Given the description of an element on the screen output the (x, y) to click on. 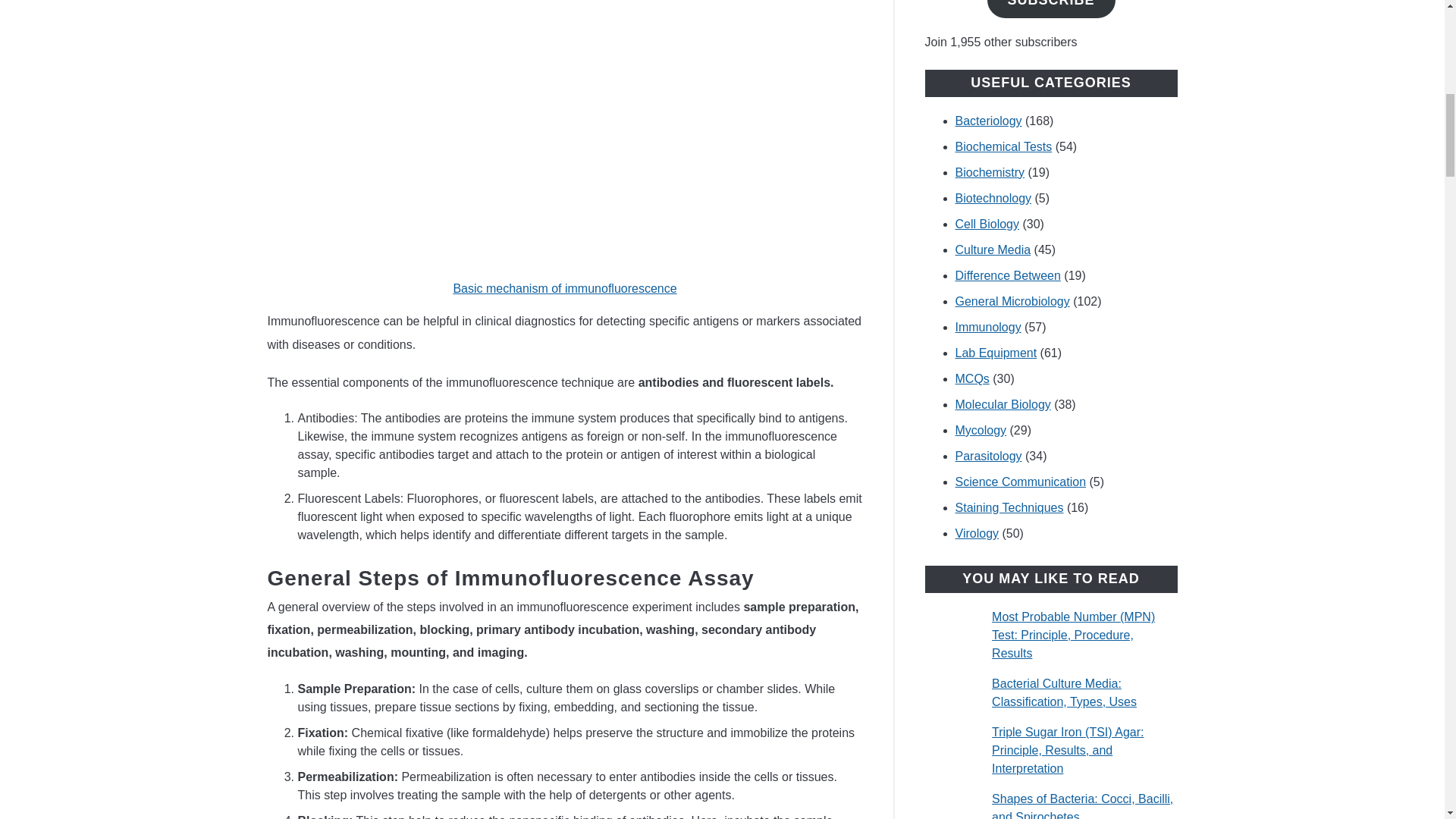
Basic mechanism of immunofluorescence (564, 287)
Bacterial Culture Media: Classification, Types, Uses (1064, 692)
Shapes of Bacteria: Cocci, Bacilli, and Spirochetes (1082, 805)
